Given the description of an element on the screen output the (x, y) to click on. 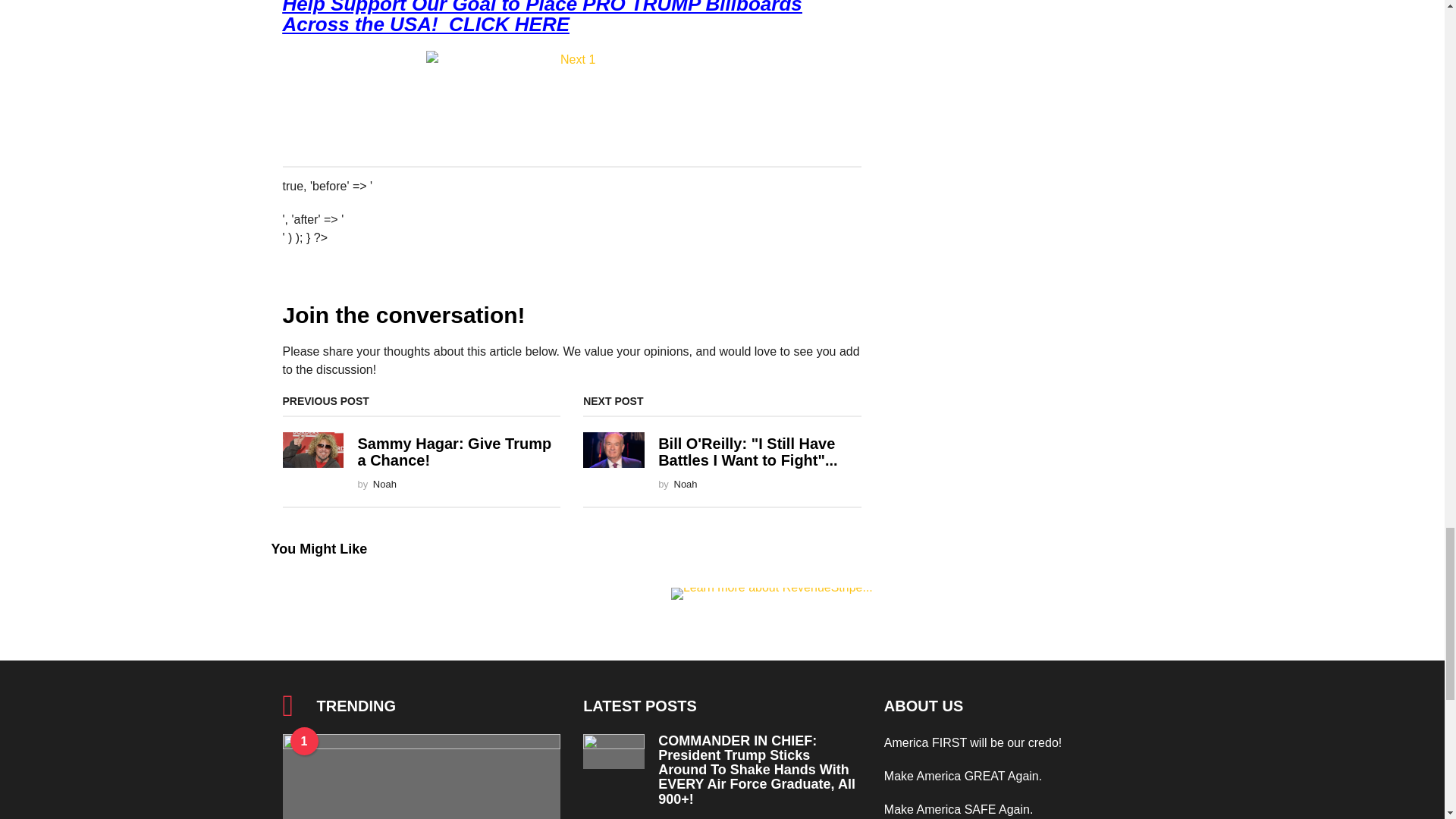
Sammy Hagar: Give Trump a Chance! (453, 450)
